Given the description of an element on the screen output the (x, y) to click on. 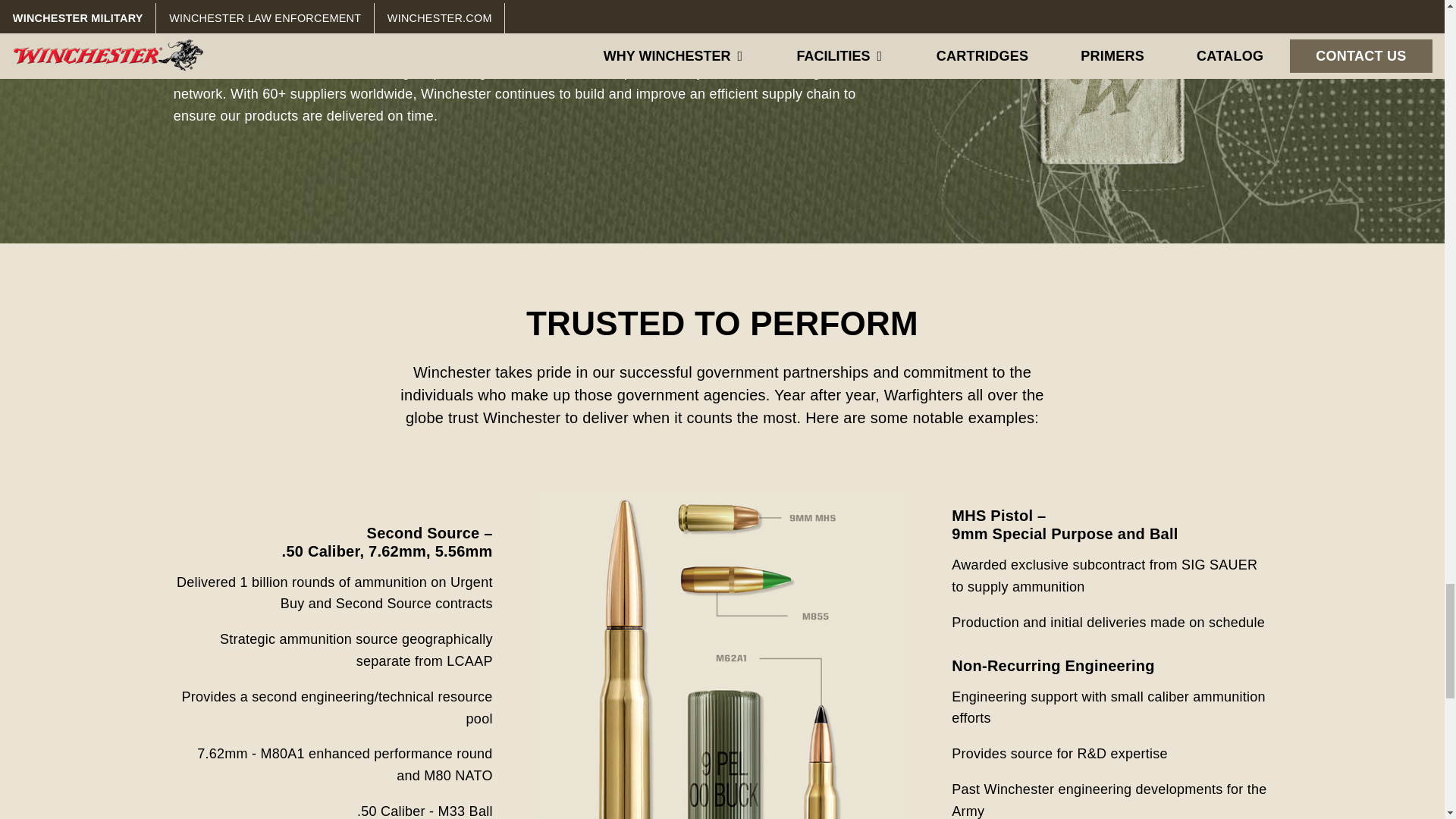
QUICK TO MOBILIZE (340, 3)
TRUSTED TO PERFORM (721, 323)
